Given the description of an element on the screen output the (x, y) to click on. 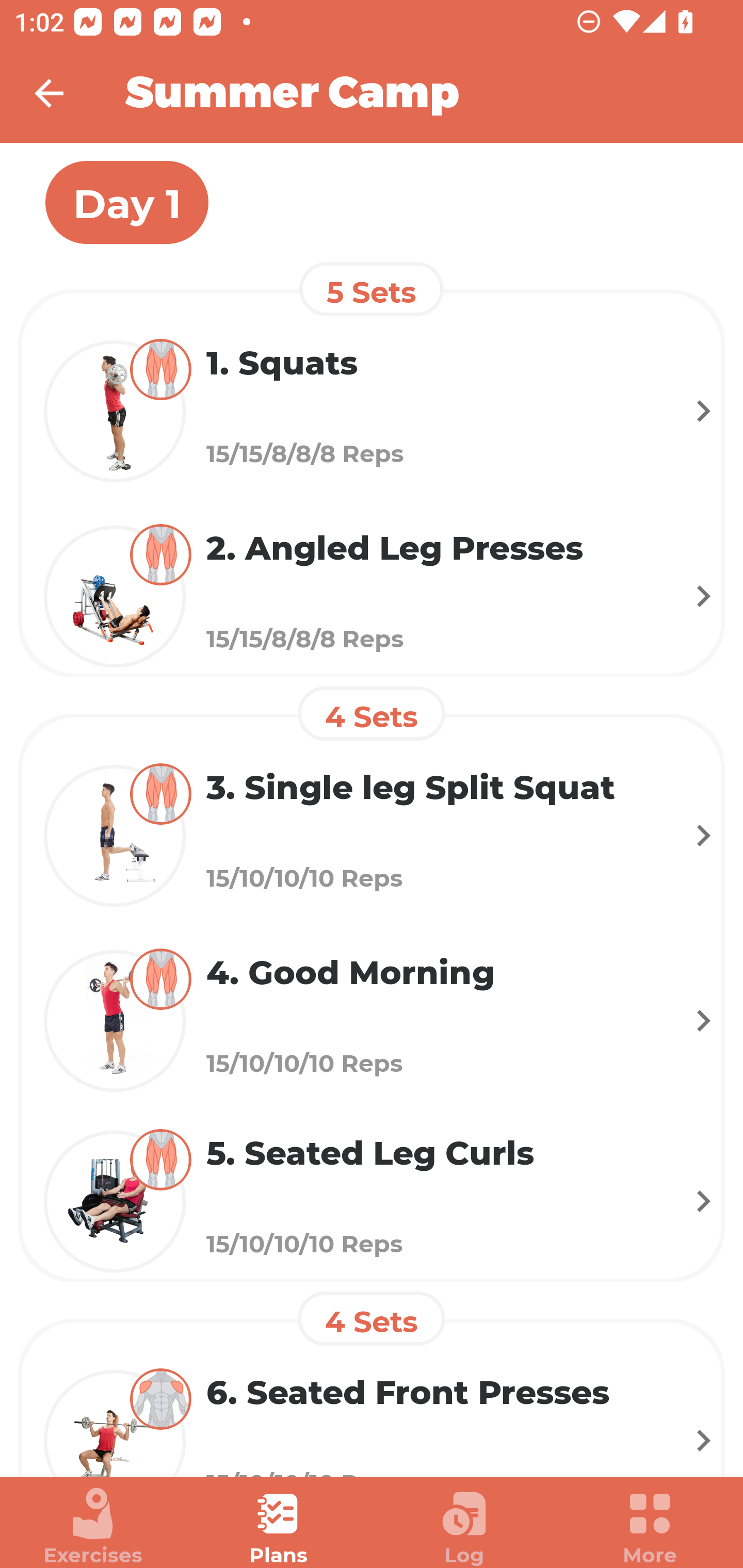
Back (62, 92)
5 Sets 1. Squats 15/15/8/8/8 Reps (371, 383)
2. Angled Leg Presses 15/15/8/8/8 Reps (371, 596)
4 Sets 3. Single leg Split Squat 15/10/10/10 Reps (371, 807)
4. Good Morning 15/10/10/10 Reps (371, 1020)
5. Seated Leg Curls 15/10/10/10 Reps (371, 1201)
4 Sets 6. Seated Front Presses 15/10/10/10 Reps (371, 1384)
Exercises (92, 1527)
Plans (278, 1527)
Log (464, 1527)
More (650, 1527)
